Given the description of an element on the screen output the (x, y) to click on. 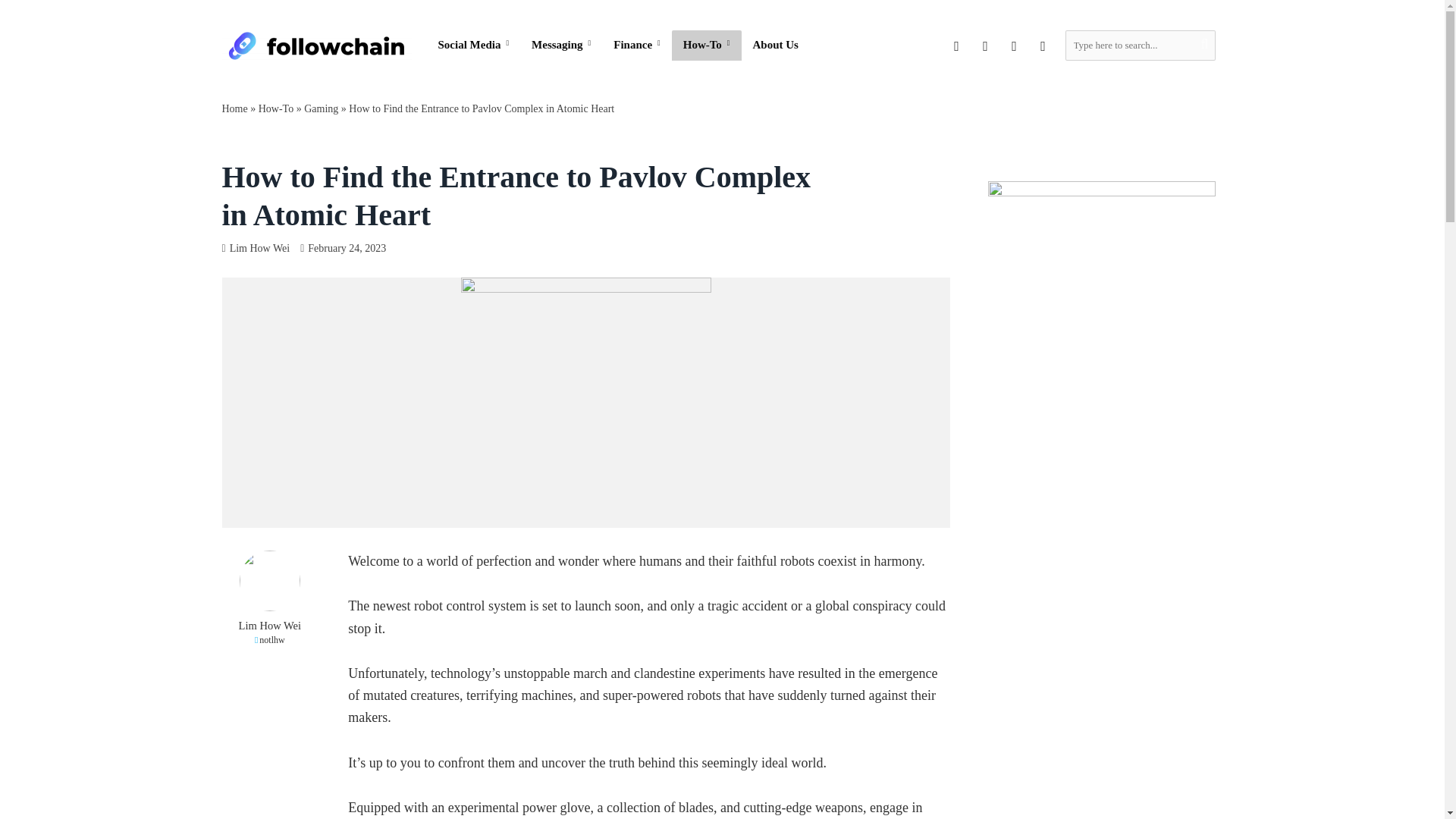
How-To (706, 45)
Messaging (560, 45)
Social Media (472, 45)
Finance (636, 45)
About Us (775, 45)
